Given the description of an element on the screen output the (x, y) to click on. 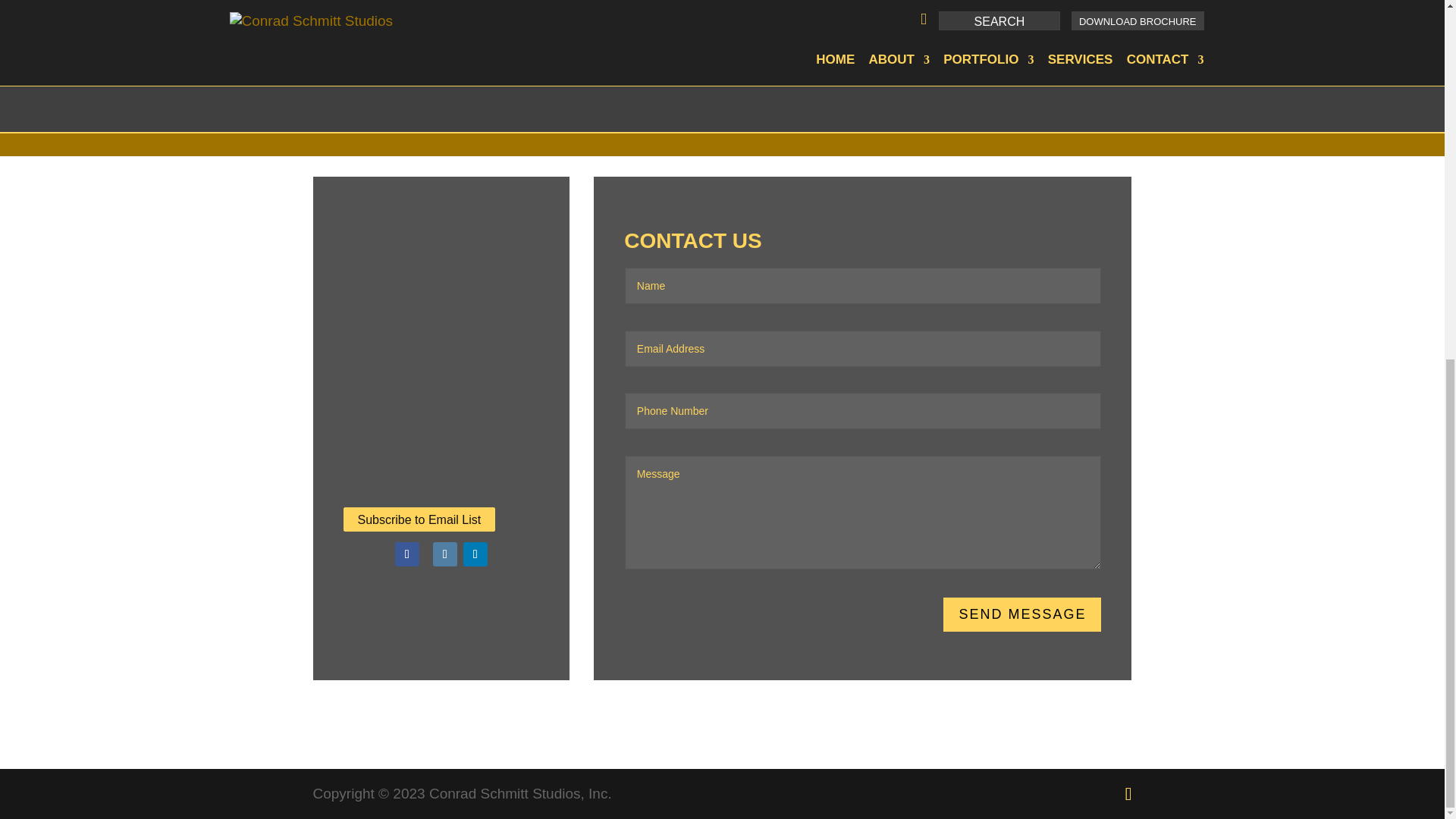
Maximum length: 15 characters. (863, 411)
Follow on Instagram (444, 554)
Follow on Facebook (406, 554)
Follow on LinkedIn (475, 554)
Subscribe to Email List (418, 519)
SEND MESSAGE (1021, 614)
